Given the description of an element on the screen output the (x, y) to click on. 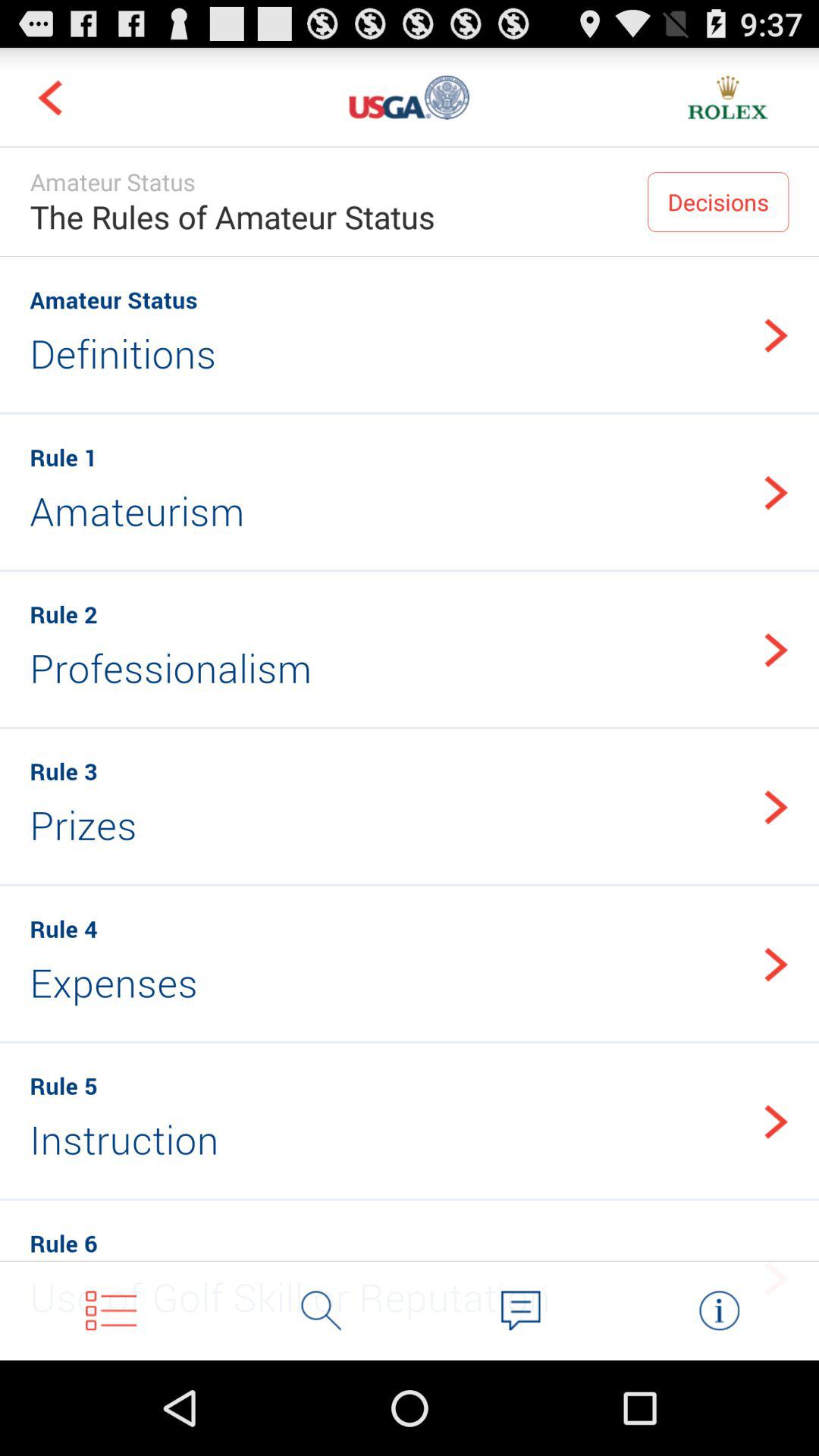
move to previous part (49, 97)
